Given the description of an element on the screen output the (x, y) to click on. 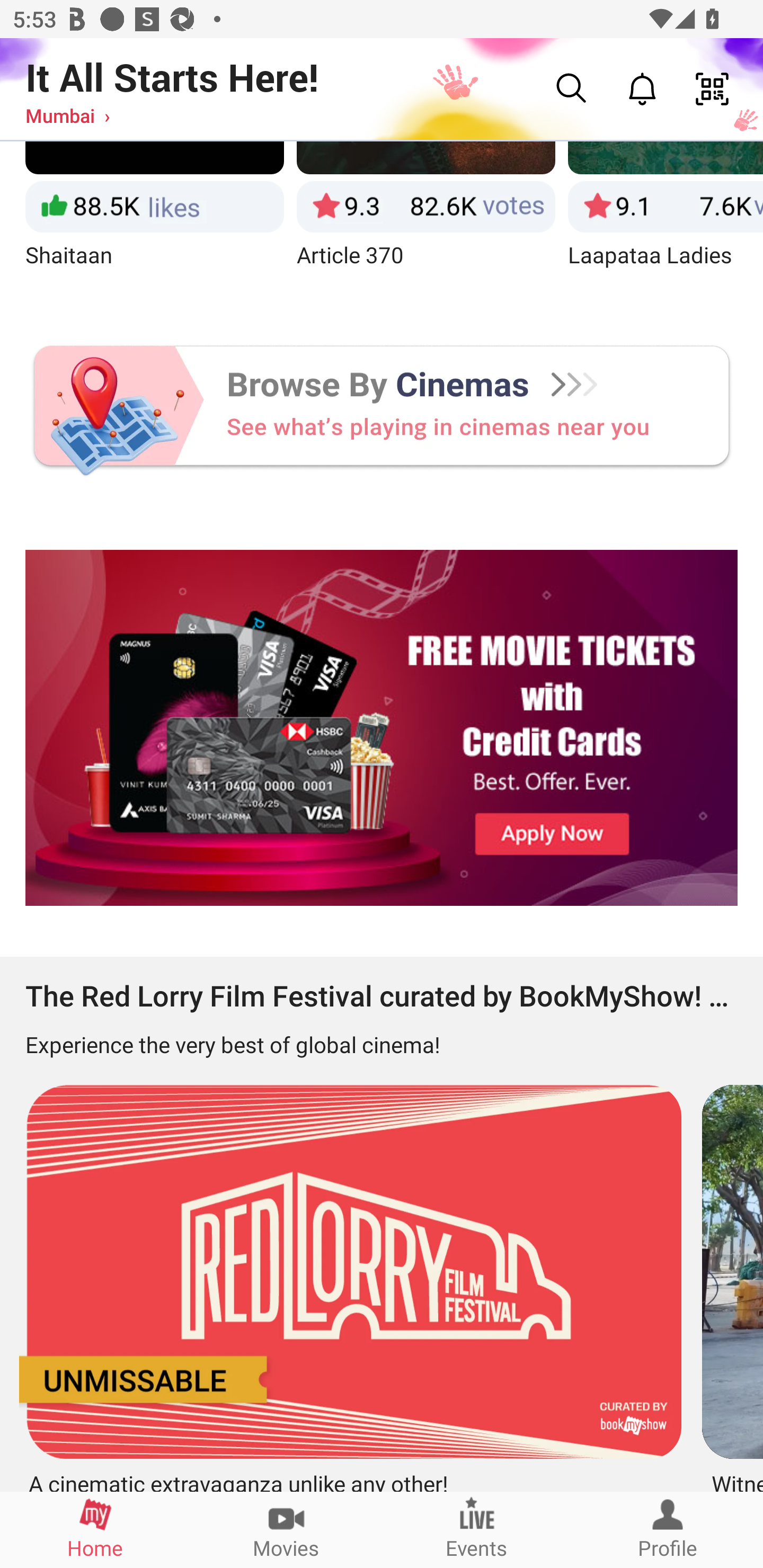
Mumbai  › (67, 114)
Shaitaan (154, 221)
Article 370 (425, 221)
Laapataa Ladies (665, 221)
A cinematic extravaganza unlike any other! (347, 1281)
Home (95, 1529)
Movies (285, 1529)
Events (476, 1529)
Profile (667, 1529)
